Given the description of an element on the screen output the (x, y) to click on. 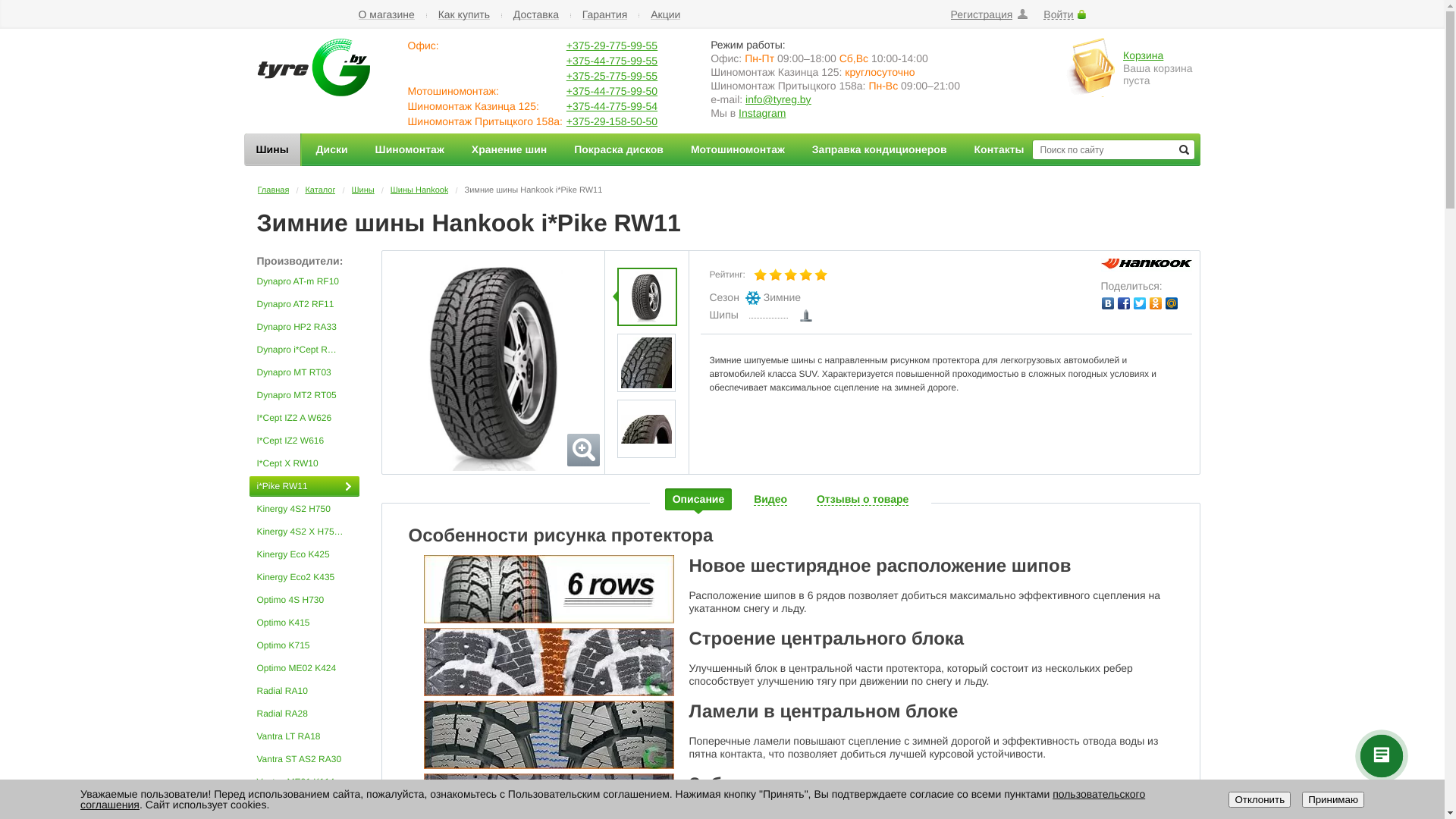
3 Element type: hover (790, 274)
Radial RA10 Element type: text (303, 690)
Optimo K715 Element type: text (303, 645)
Vantra LT RA18 Element type: text (303, 736)
i*Pike RW11 Element type: text (303, 486)
Radial RA28 Element type: text (303, 713)
Optimo ME02 K424 Element type: text (303, 668)
Dynapro AT2 RF11 Element type: text (303, 304)
I*Cept IZ2 W616 Element type: text (303, 440)
Ventus ME01 K114 Element type: text (303, 781)
+375-25-775-99-55 Element type: text (611, 75)
+375-29-158-50-50 Element type: text (611, 121)
Dynapro MT RT03 Element type: text (303, 372)
I*Cept IZ2 A W626 Element type: text (303, 417)
5 Element type: hover (820, 274)
+375-44-775-99-54 Element type: text (611, 106)
i*Pike RW11 Element type: hover (645, 296)
info@tyreg.by Element type: text (778, 99)
Kinergy 4S2 H750 Element type: text (303, 508)
I*Cept X RW10 Element type: text (303, 463)
+375-44-775-99-50 Element type: text (611, 90)
Dynapro i*Cept RW08 Element type: text (303, 349)
2 Element type: hover (775, 274)
Dynapro MT2 RT05 Element type: text (303, 395)
Kinergy Eco K425 Element type: text (303, 554)
+375-44-775-99-55 Element type: text (611, 60)
i*Pike RW11 Element type: hover (645, 362)
Optimo K415 Element type: text (303, 622)
Dynapro AT-m RF10 Element type: text (303, 281)
Hankook Element type: hover (1146, 265)
Twitter Element type: hover (1139, 303)
Kinergy 4S2 X H750A Element type: text (303, 531)
Facebook Element type: hover (1124, 303)
Dynapro HP2 RA33 Element type: text (303, 326)
Instagram Element type: text (761, 112)
+375-29-775-99-55 Element type: text (611, 45)
1 Element type: hover (760, 274)
4 Element type: hover (805, 274)
i*Pike RW11 Element type: hover (493, 362)
Optimo 4S H730 Element type: text (303, 599)
Vantra ST AS2 RA30 Element type: text (303, 759)
Ventus Prime 2 K115 Element type: text (303, 804)
i*Pike RW11 Element type: hover (645, 428)
Kinergy Eco2 K435 Element type: text (303, 577)
